Given the description of an element on the screen output the (x, y) to click on. 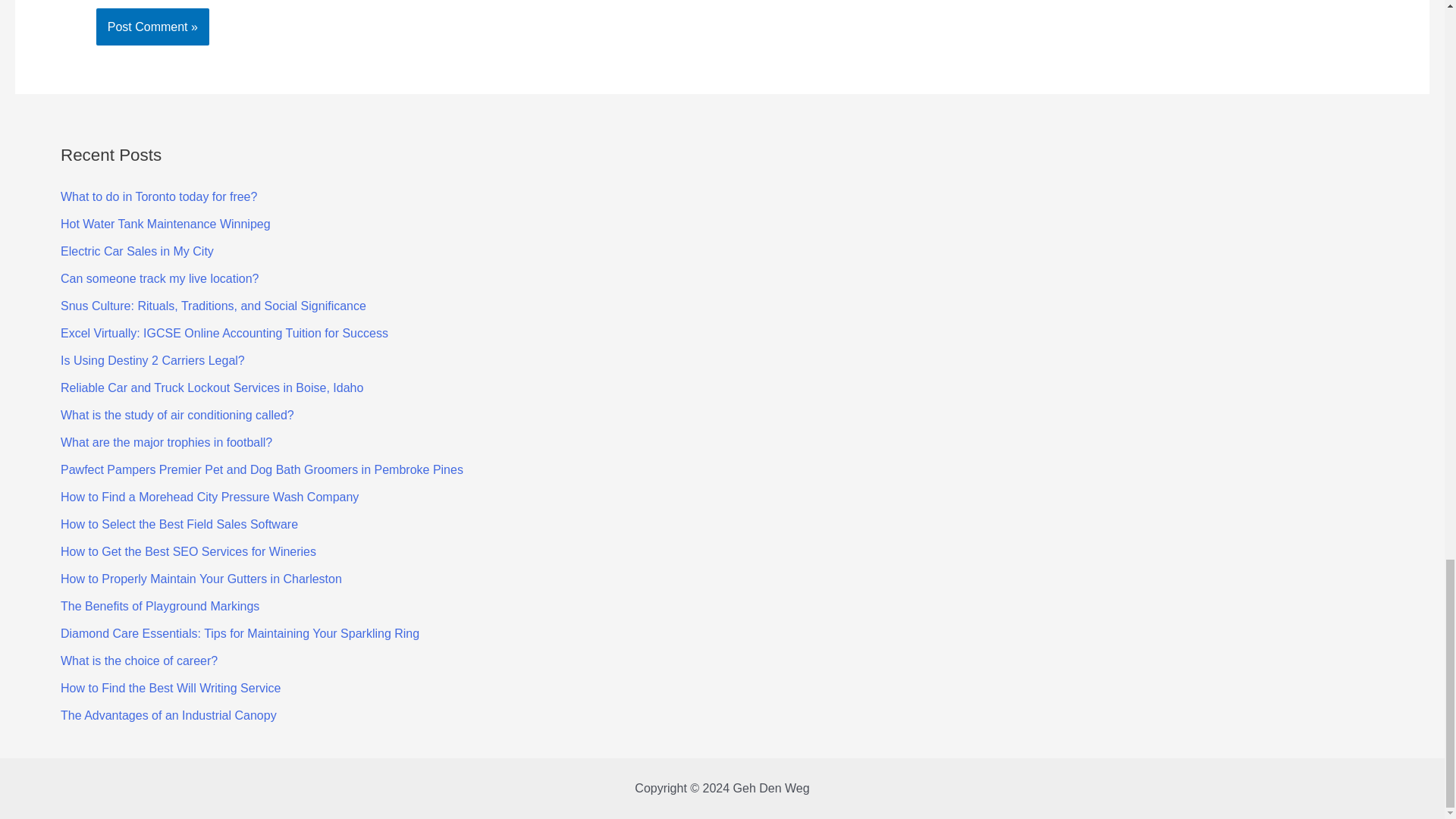
How to Get the Best SEO Services for Wineries (188, 551)
What are the major trophies in football? (166, 441)
Can someone track my live location? (160, 278)
The Benefits of Playground Markings (160, 605)
What is the choice of career? (138, 660)
How to Find the Best Will Writing Service (171, 687)
Excel Virtually: IGCSE Online Accounting Tuition for Success (224, 332)
Electric Car Sales in My City (137, 250)
The Advantages of an Industrial Canopy (168, 715)
Is Using Destiny 2 Carriers Legal? (152, 359)
How to Find a Morehead City Pressure Wash Company (209, 496)
Snus Culture: Rituals, Traditions, and Social Significance (213, 305)
How to Select the Best Field Sales Software (179, 523)
